Given the description of an element on the screen output the (x, y) to click on. 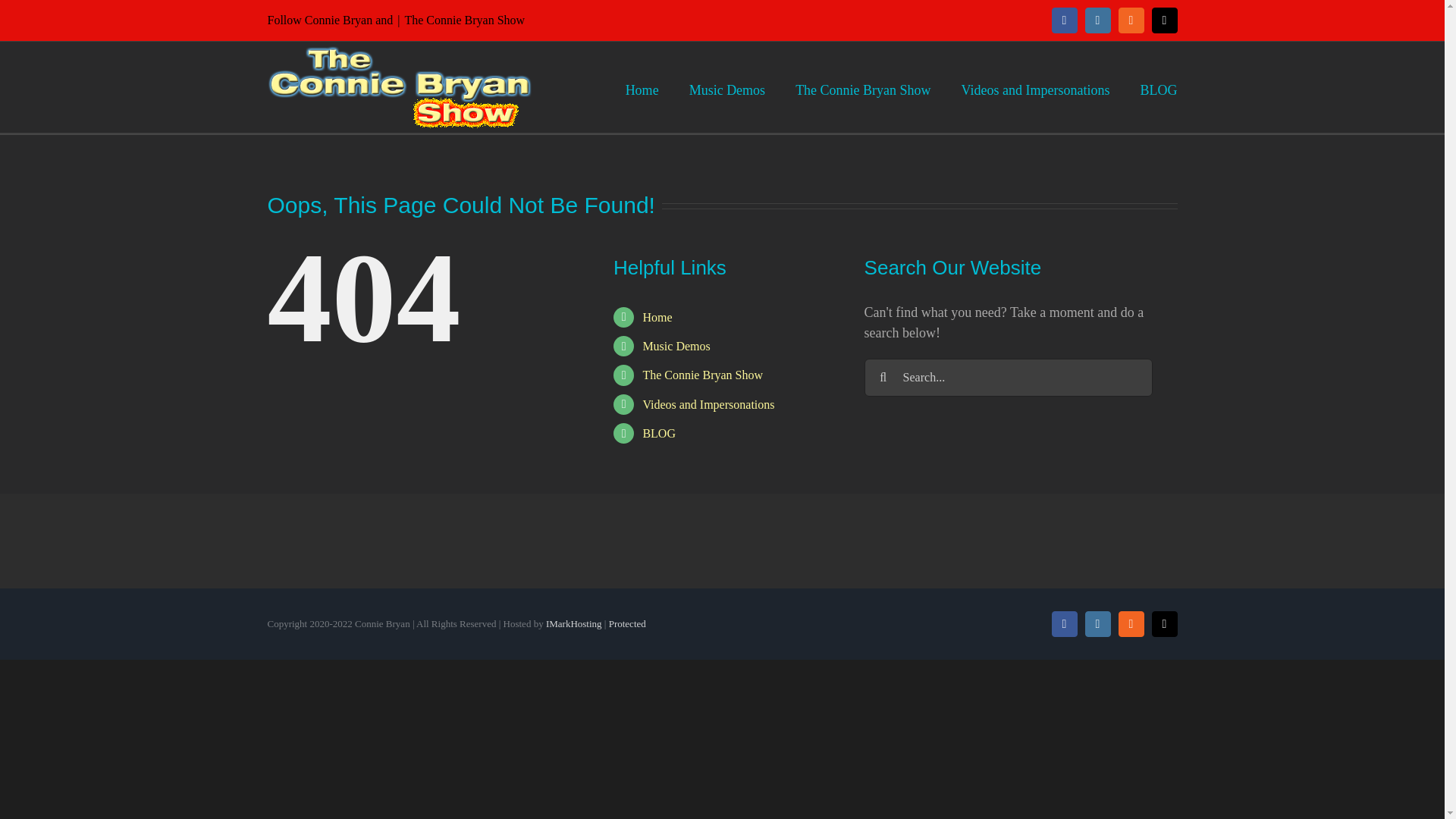
Instagram (1096, 20)
X (1163, 20)
Videos and Impersonations (1034, 86)
Facebook (1064, 20)
Instagram (1096, 20)
Comedy Videos and Impersonations (1034, 86)
Music Demos (676, 345)
Videos and Impersonations (708, 404)
Latest TV Shows (702, 374)
The Connie Bryan Show (702, 374)
X (1163, 20)
Rss (1130, 20)
Rss (1130, 20)
Latest TV Shows (862, 86)
The Connie Bryan Show (656, 317)
